Given the description of an element on the screen output the (x, y) to click on. 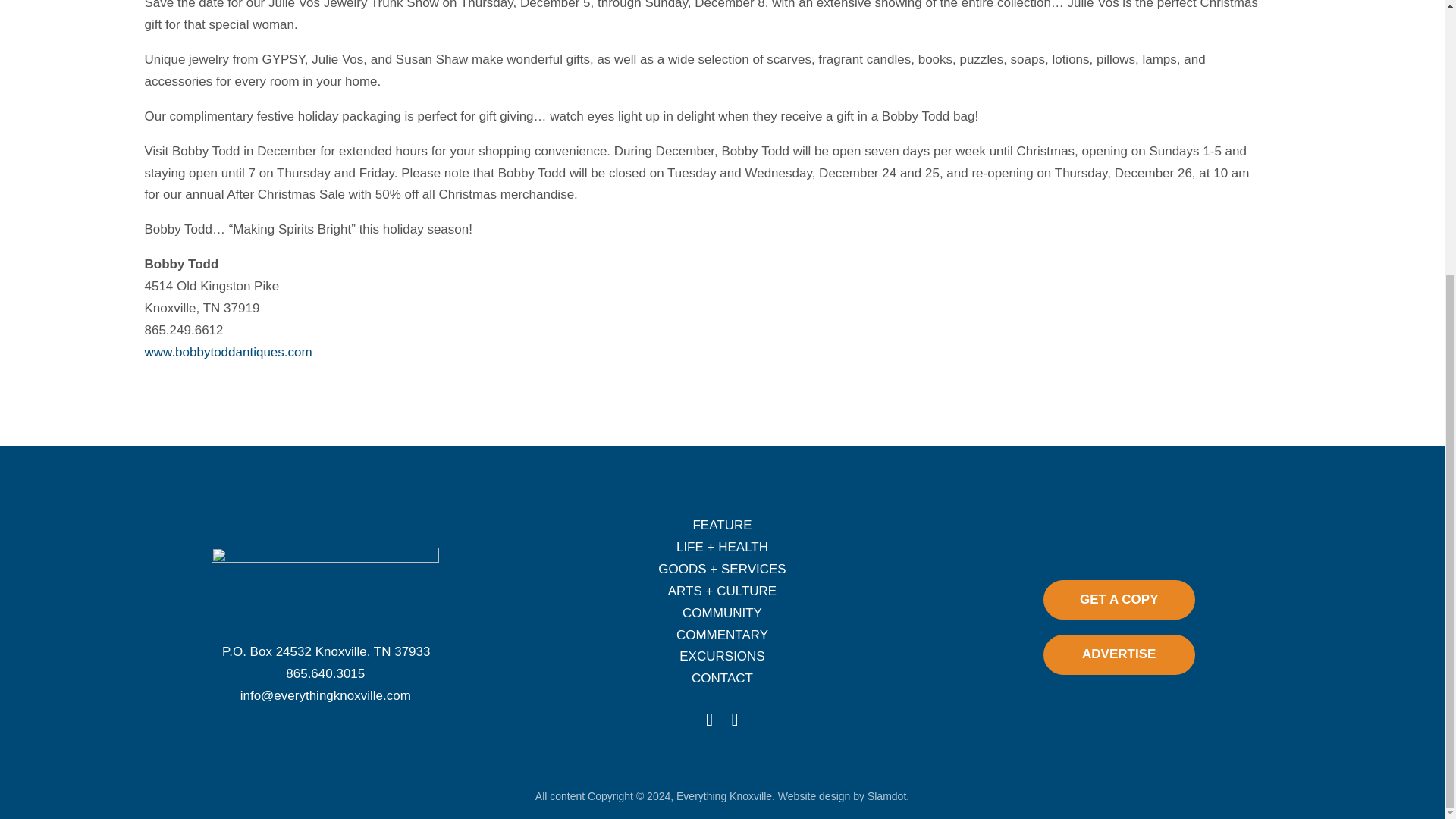
ADVERTISE (1119, 654)
Slamdot (886, 796)
CONTACT (721, 677)
EXCURSIONS (721, 656)
FEATURE (722, 524)
COMMENTARY (722, 635)
www.bobbytoddantiques.com (227, 351)
COMMUNITY (721, 612)
GET A COPY (1119, 599)
865.640.3015 (325, 673)
